Given the description of an element on the screen output the (x, y) to click on. 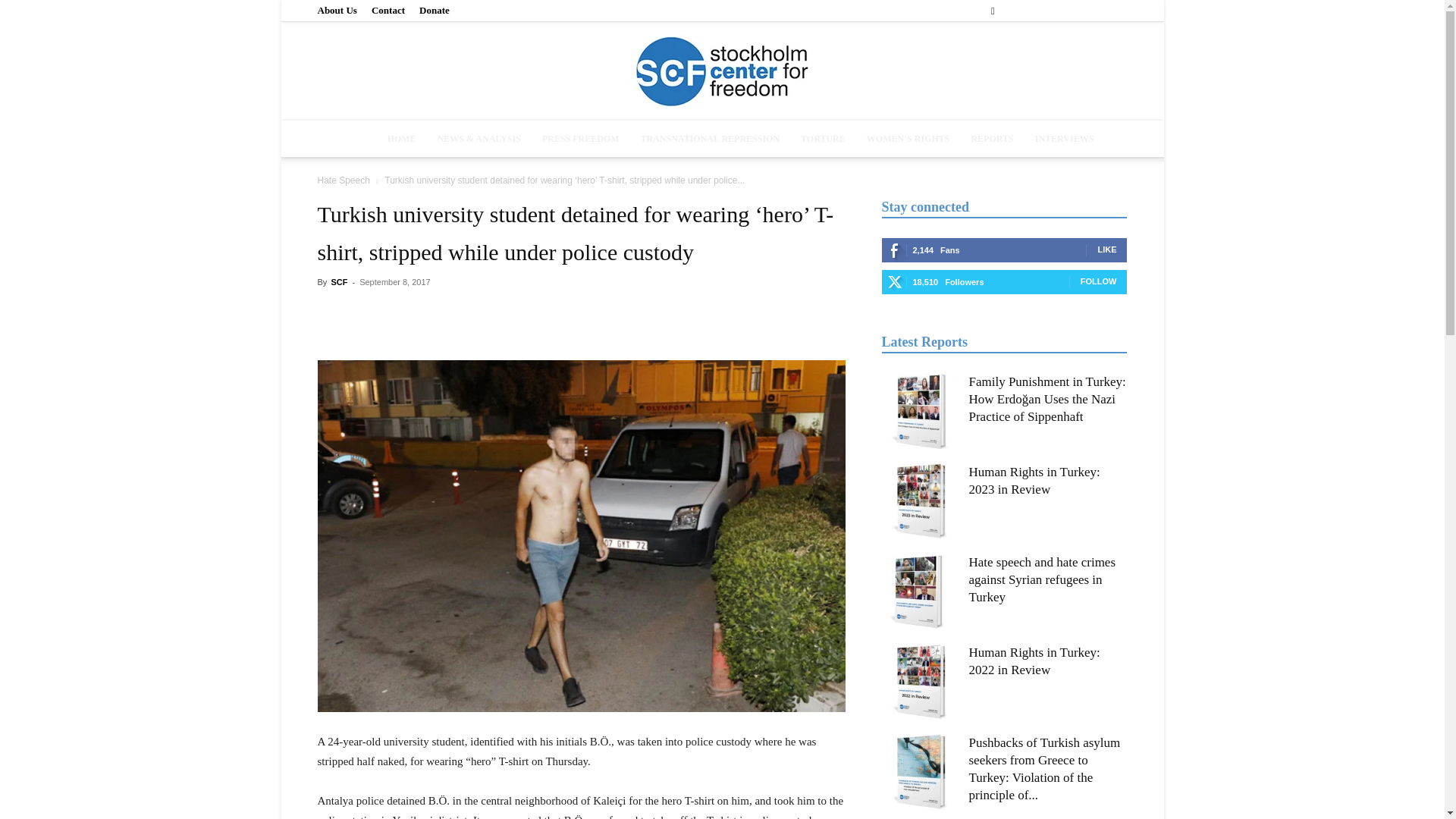
TORTURE (823, 138)
PRESS FREEDOM (580, 138)
INTERVIEWS (1065, 138)
Stockholm Center for Freedom (722, 72)
Facebook (1015, 10)
Hate Speech (343, 180)
Flipboard (1040, 10)
About Us (336, 9)
REPORTS (991, 138)
HOME (401, 138)
View all posts in Hate Speech (343, 180)
Youtube (1114, 10)
Twitter (1090, 10)
Donate (434, 9)
TRANSNATIONAL REPRESSION (710, 138)
